Given the description of an element on the screen output the (x, y) to click on. 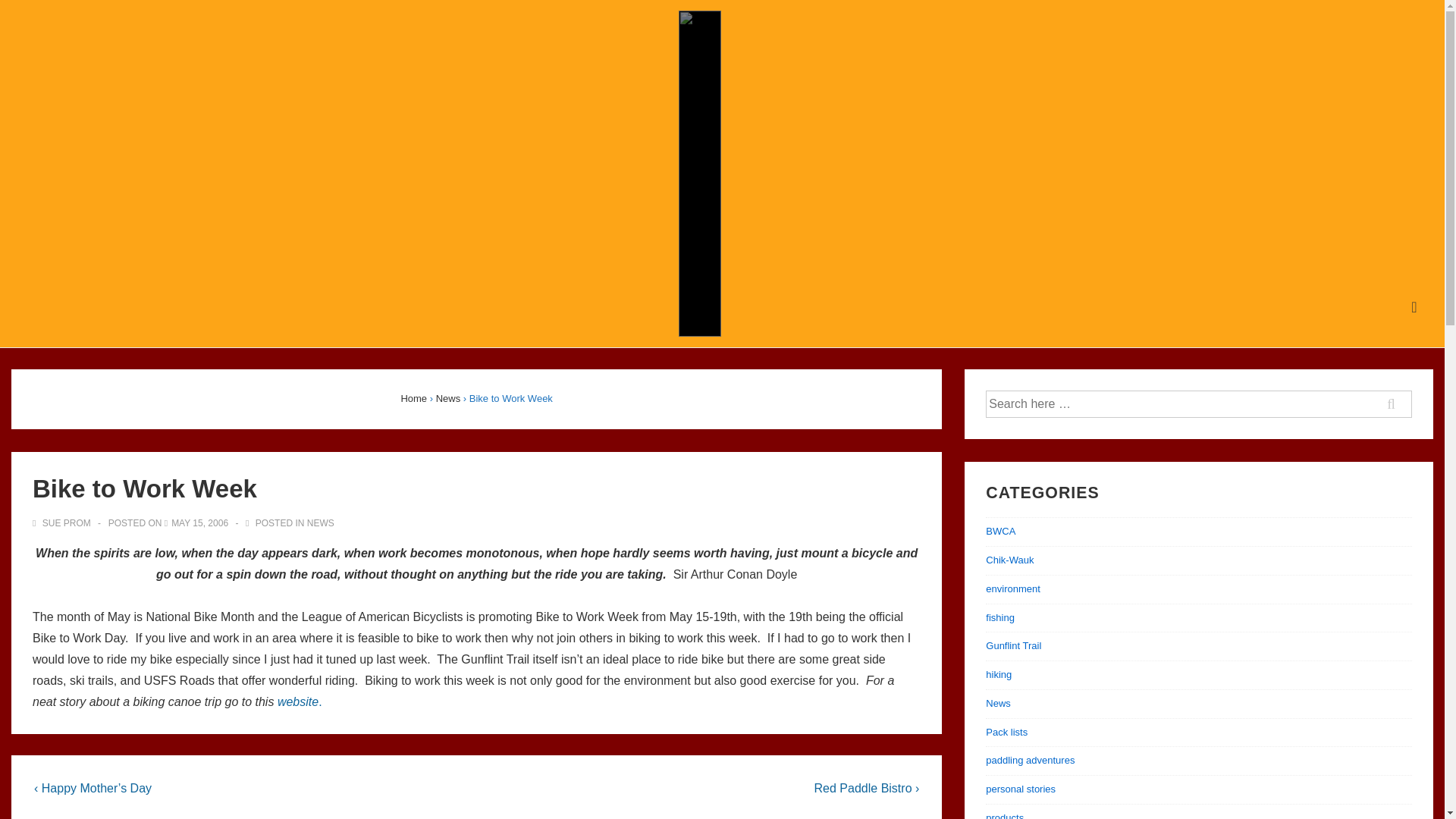
personal stories (1020, 788)
environment (1013, 588)
BWCA (999, 531)
Home (413, 398)
products (1004, 815)
website (298, 701)
Pack lists (1006, 731)
SUE PROM (62, 522)
fishing (999, 617)
paddling adventures (1029, 759)
News (448, 398)
View all posts by Sue Prom (62, 522)
hiking (998, 674)
MAY 15, 2006 (199, 522)
News (997, 703)
